Given the description of an element on the screen output the (x, y) to click on. 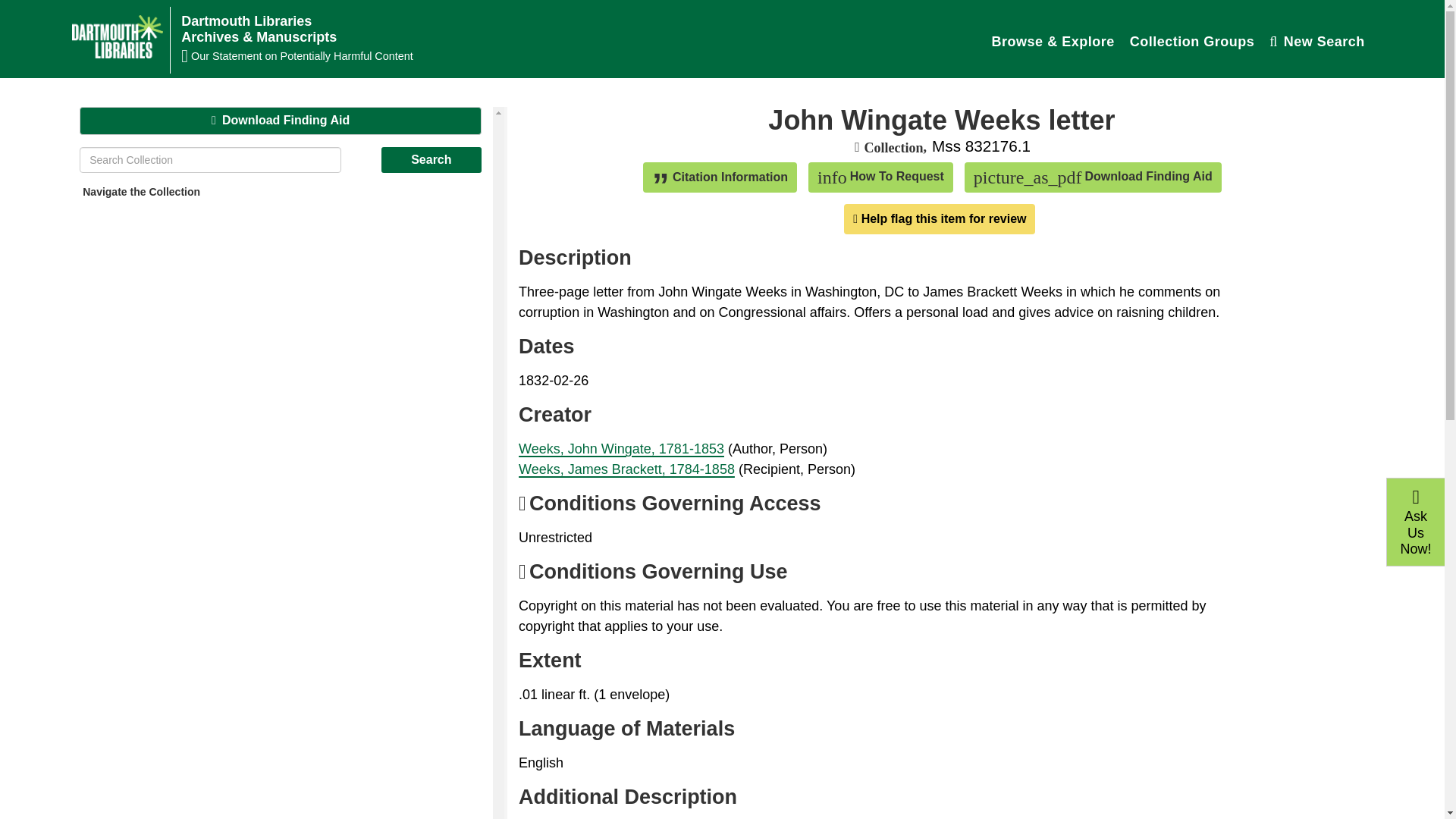
Search The Archives (1317, 41)
Weeks, James Brackett, 1784-1858 (626, 468)
Page Actions (1317, 41)
Citation Information (941, 181)
Collection Groups (719, 177)
Our Statement on Potentially Harmful Content (1192, 41)
Search (585, 55)
 Help flag this item for review (431, 159)
Weeks, John Wingate, 1781-1853 (939, 218)
Search (620, 448)
infoHow To Request (431, 159)
Skip to Selected Object (880, 177)
Download Finding Aid (258, 29)
